Given the description of an element on the screen output the (x, y) to click on. 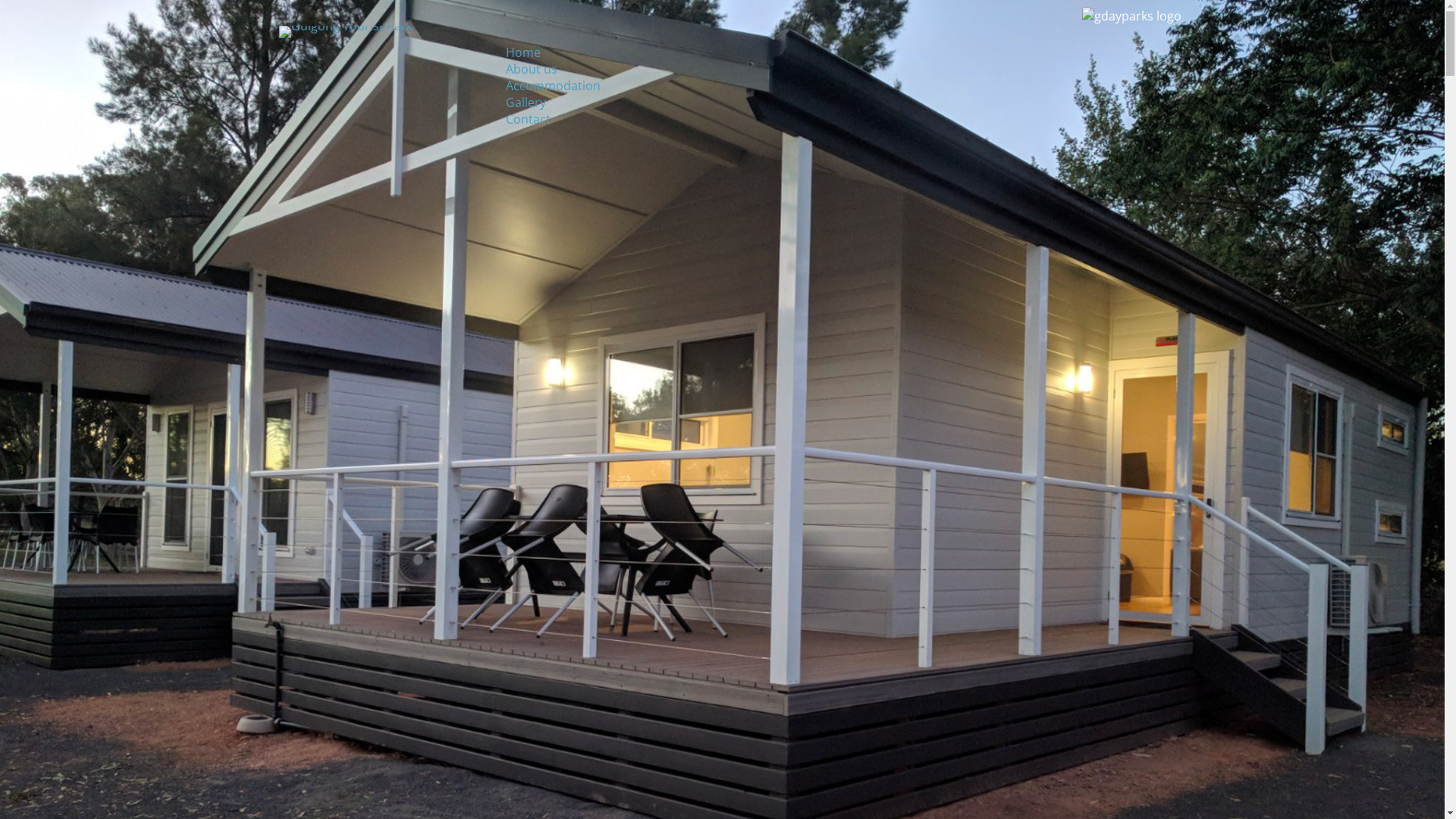
Contact Element type: text (527, 118)
About us Element type: text (531, 68)
Accommodation Element type: text (552, 85)
Home Element type: text (522, 51)
Gallery Element type: text (525, 102)
